Given the description of an element on the screen output the (x, y) to click on. 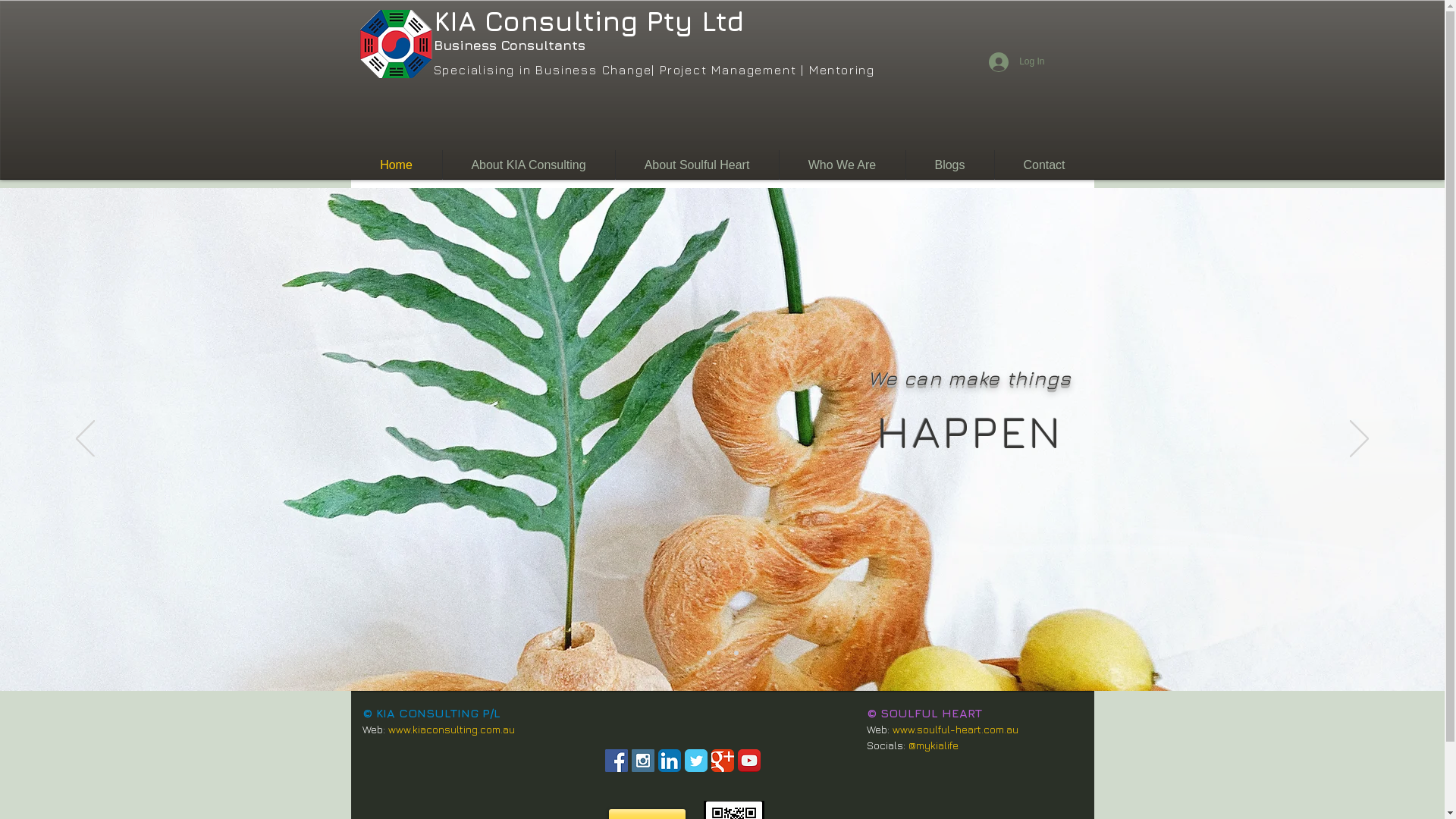
Who We Are Element type: text (842, 164)
About KIA Consulting Element type: text (528, 164)
Blogs Element type: text (949, 164)
About Soulful Heart Element type: text (696, 164)
Contact Element type: text (1044, 164)
Log In Element type: text (1016, 61)
Facebook Like Element type: hover (684, 743)
www.kiaconsulting.com.au Element type: text (451, 728)
www.soulful-heart.com.au Element type: text (954, 728)
Home Element type: text (395, 164)
